Given the description of an element on the screen output the (x, y) to click on. 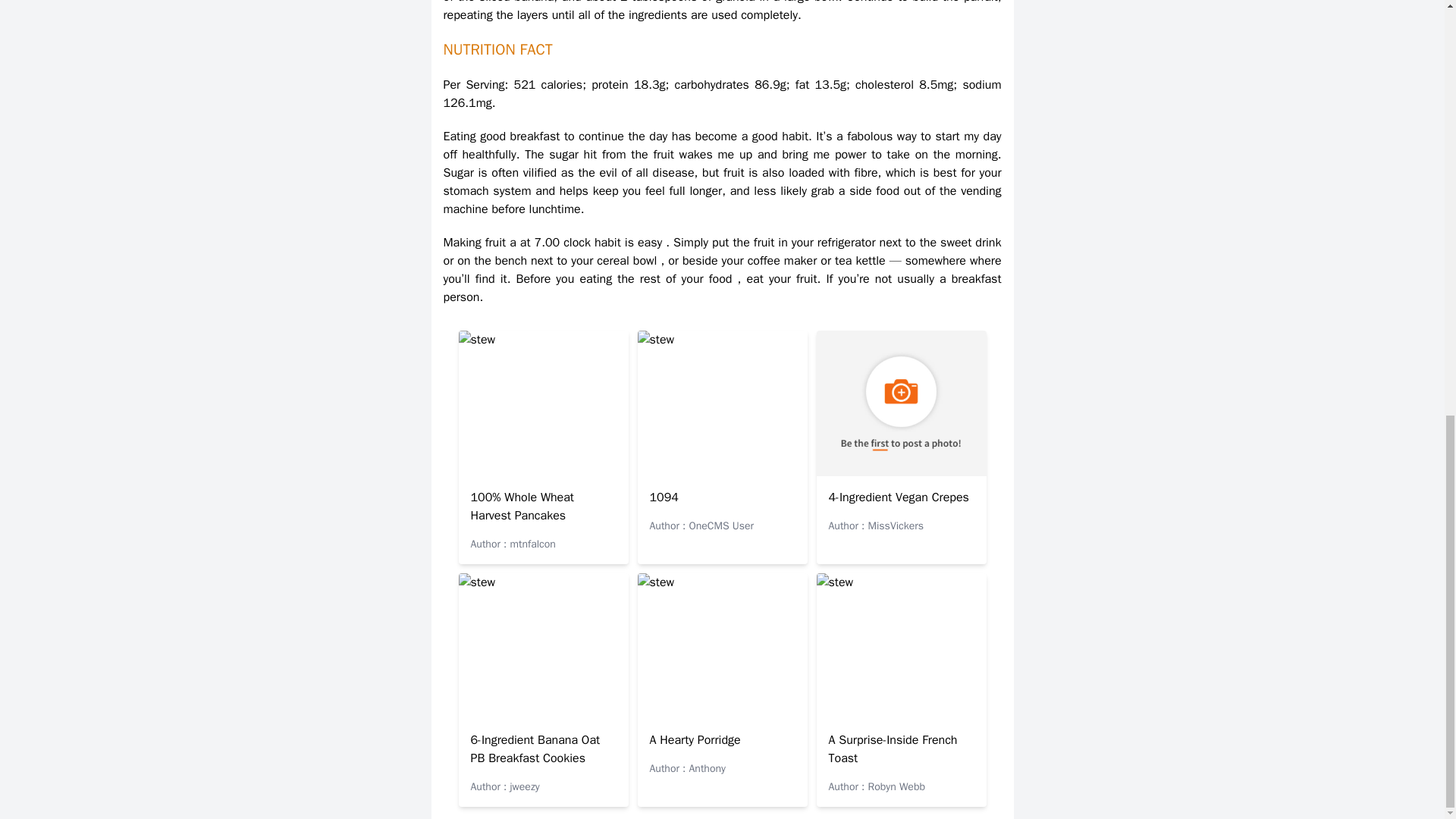
A Surprise-Inside French Toast (892, 748)
1094 (663, 497)
6-Ingredient Banana Oat PB Breakfast Cookies (534, 748)
4-Ingredient Vegan Crepes (898, 497)
A Hearty Porridge (694, 739)
